Given the description of an element on the screen output the (x, y) to click on. 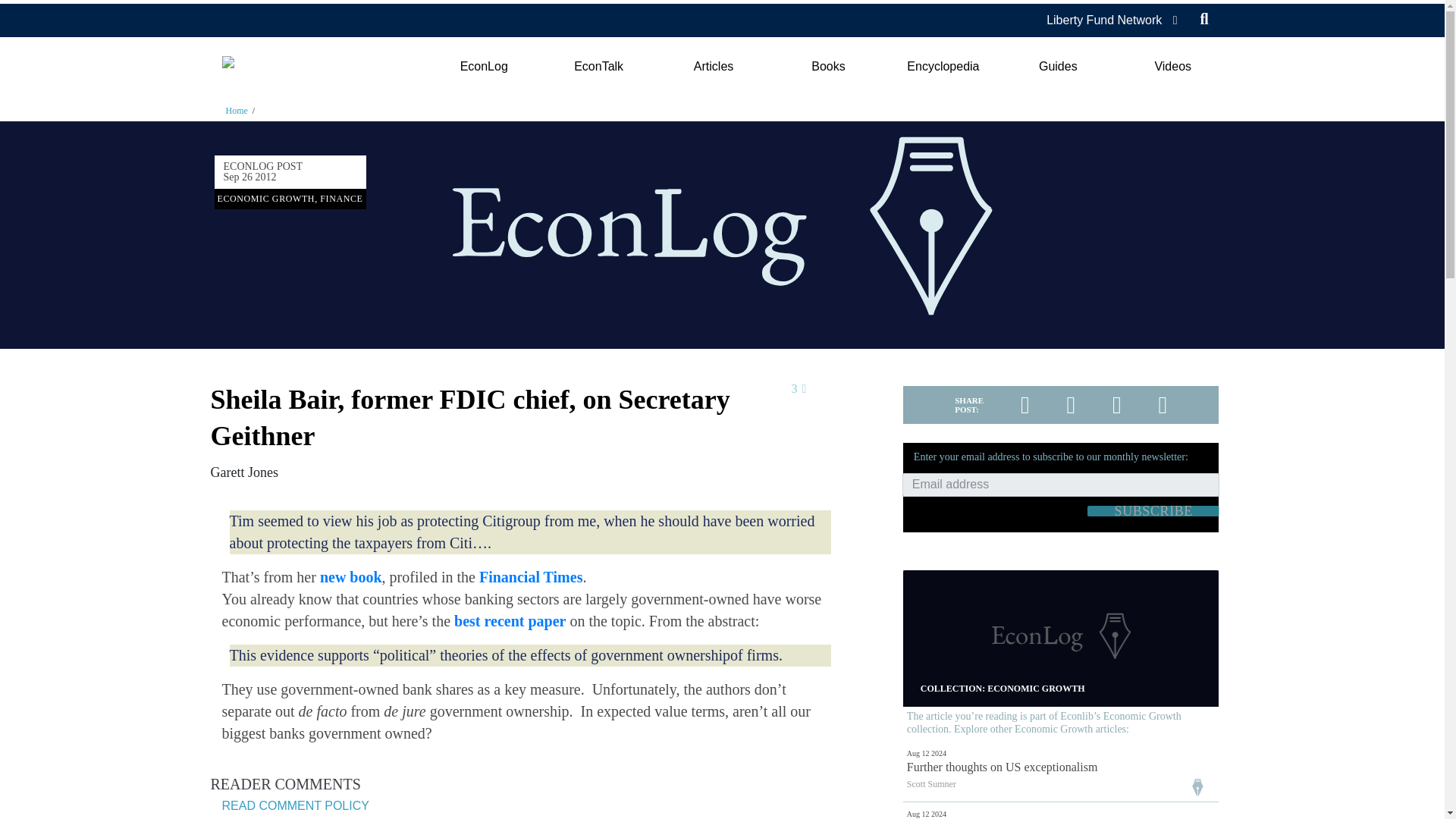
Liberty Fund Network (1104, 20)
Garett Jones (244, 472)
Books (828, 66)
Subscribe (1153, 511)
EconTalk (598, 66)
Articles (713, 66)
Encyclopedia (942, 66)
EconLog (483, 66)
